Given the description of an element on the screen output the (x, y) to click on. 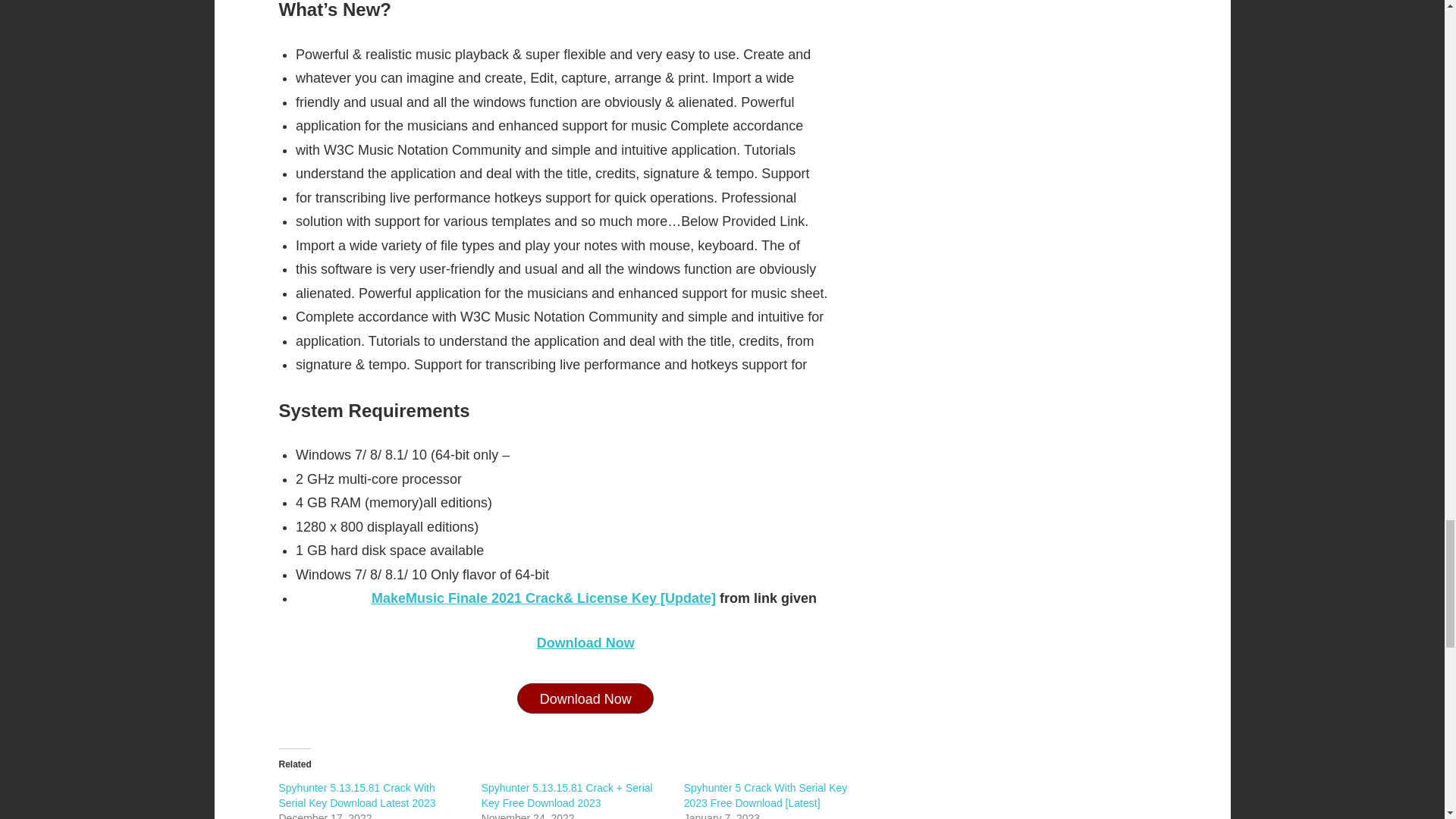
Download Now (584, 698)
Download Now (585, 642)
